Given the description of an element on the screen output the (x, y) to click on. 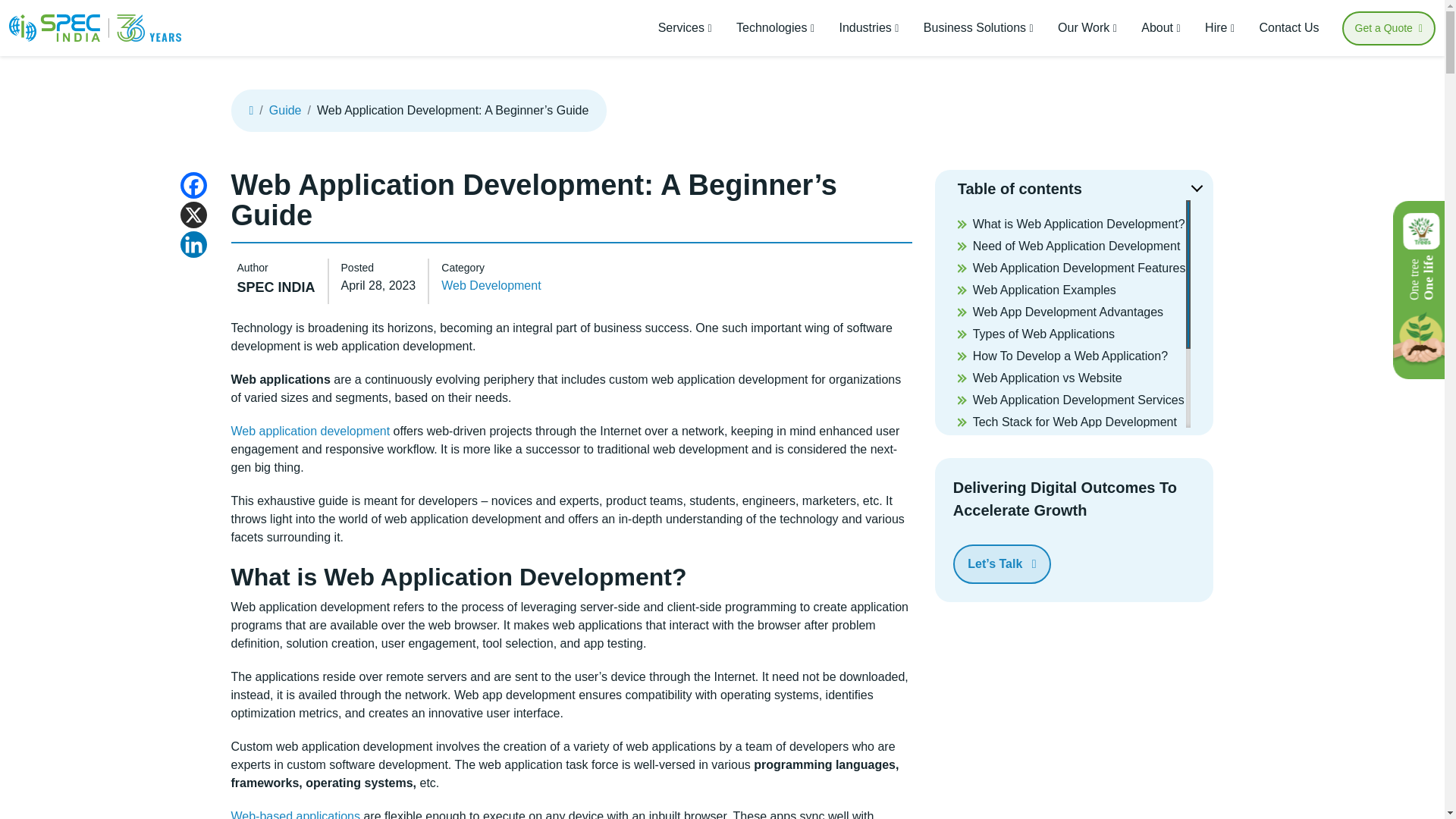
Linkedin (193, 243)
Facebook (193, 185)
X (193, 214)
Get a Quote (1388, 27)
Services (684, 28)
Get a Quote (1388, 27)
Technologies (775, 28)
